Given the description of an element on the screen output the (x, y) to click on. 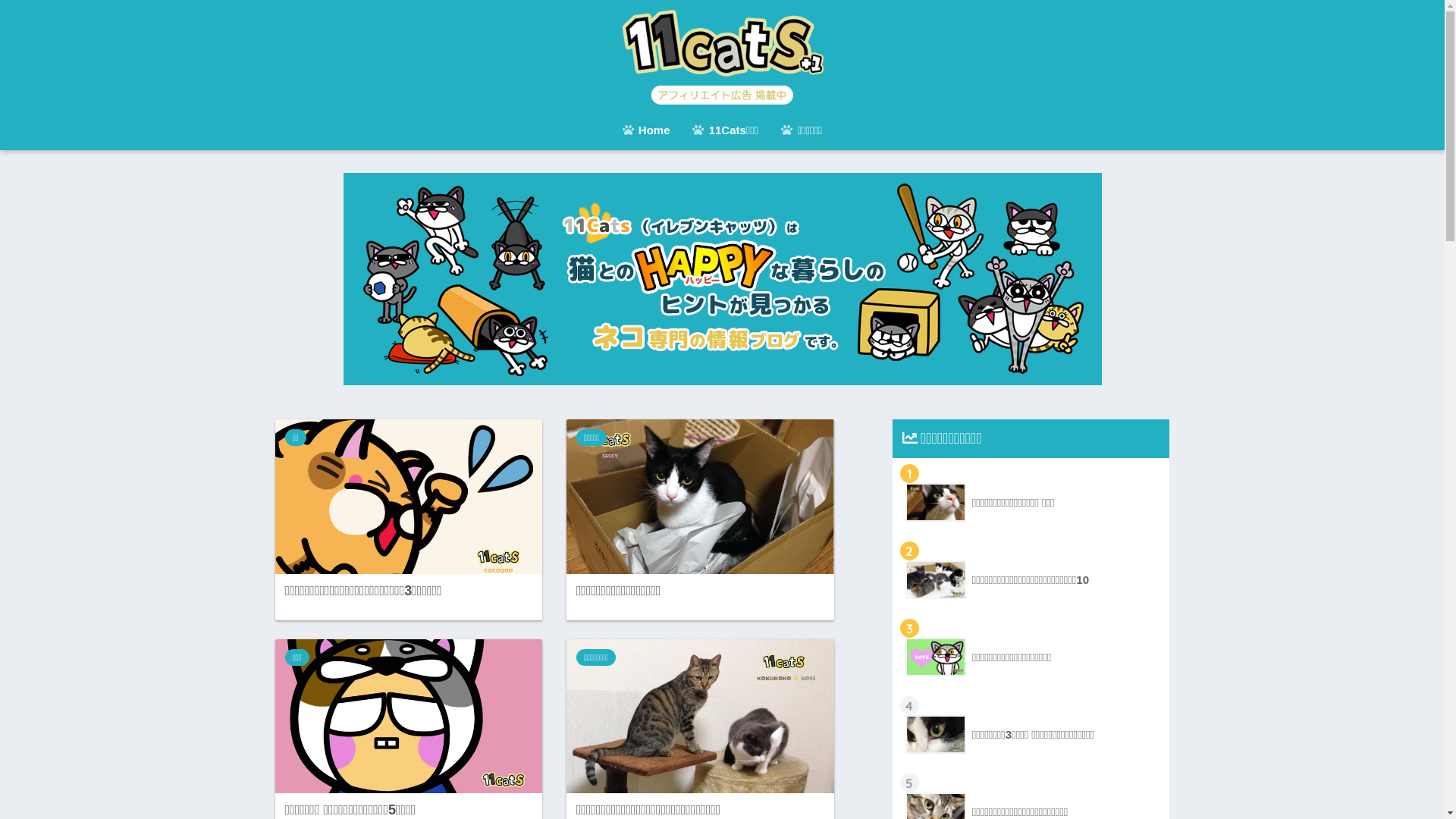
on Element type: text (4, 4)
Home Element type: text (646, 131)
